Given the description of an element on the screen output the (x, y) to click on. 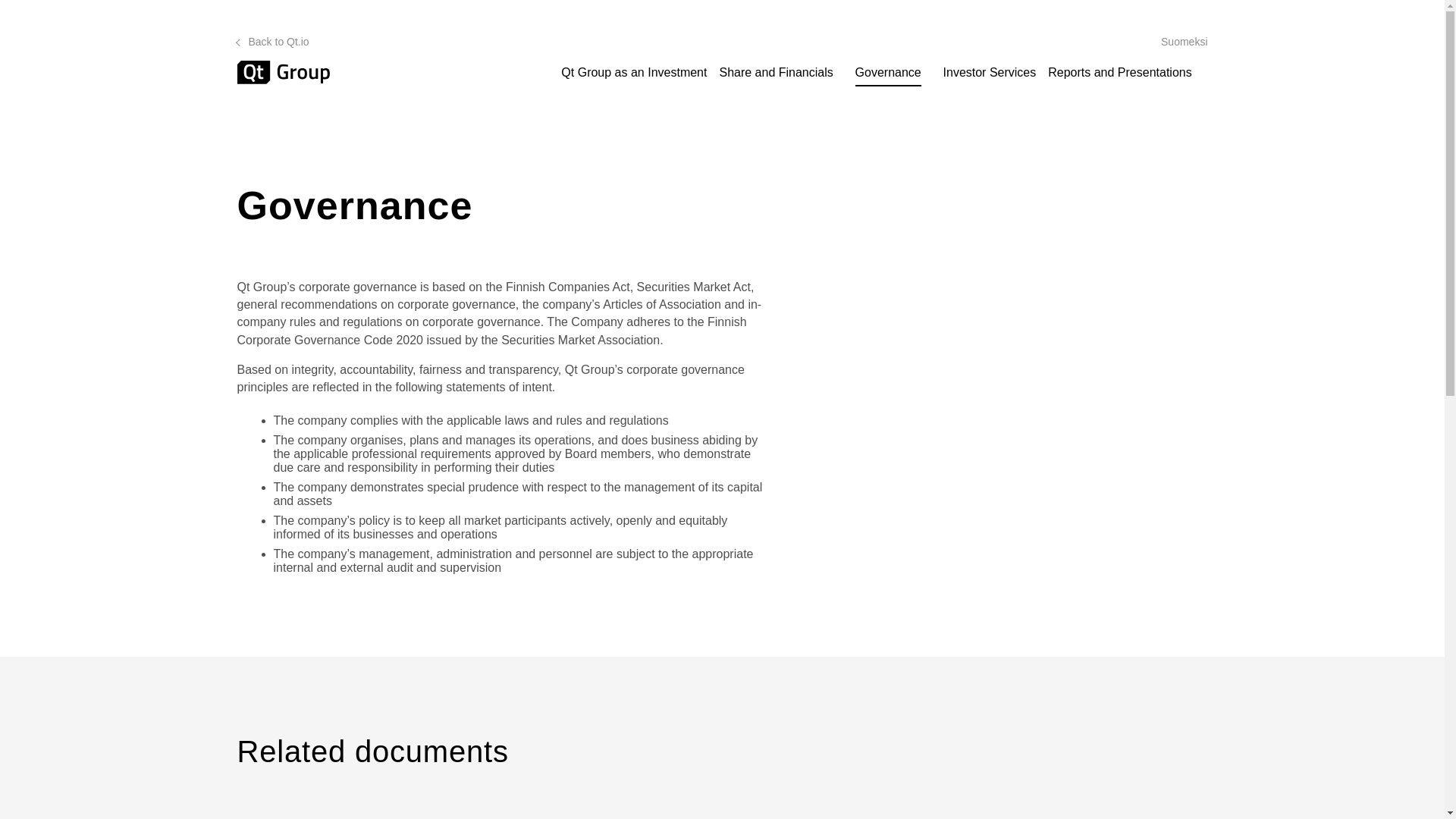
Reports and Presentations (1122, 72)
Suomeksi (1183, 41)
Investor Services (989, 72)
Back to Qt.io (271, 41)
Qt Group as an Investment (633, 72)
Governance (891, 72)
Share and Financials (778, 72)
